Given the description of an element on the screen output the (x, y) to click on. 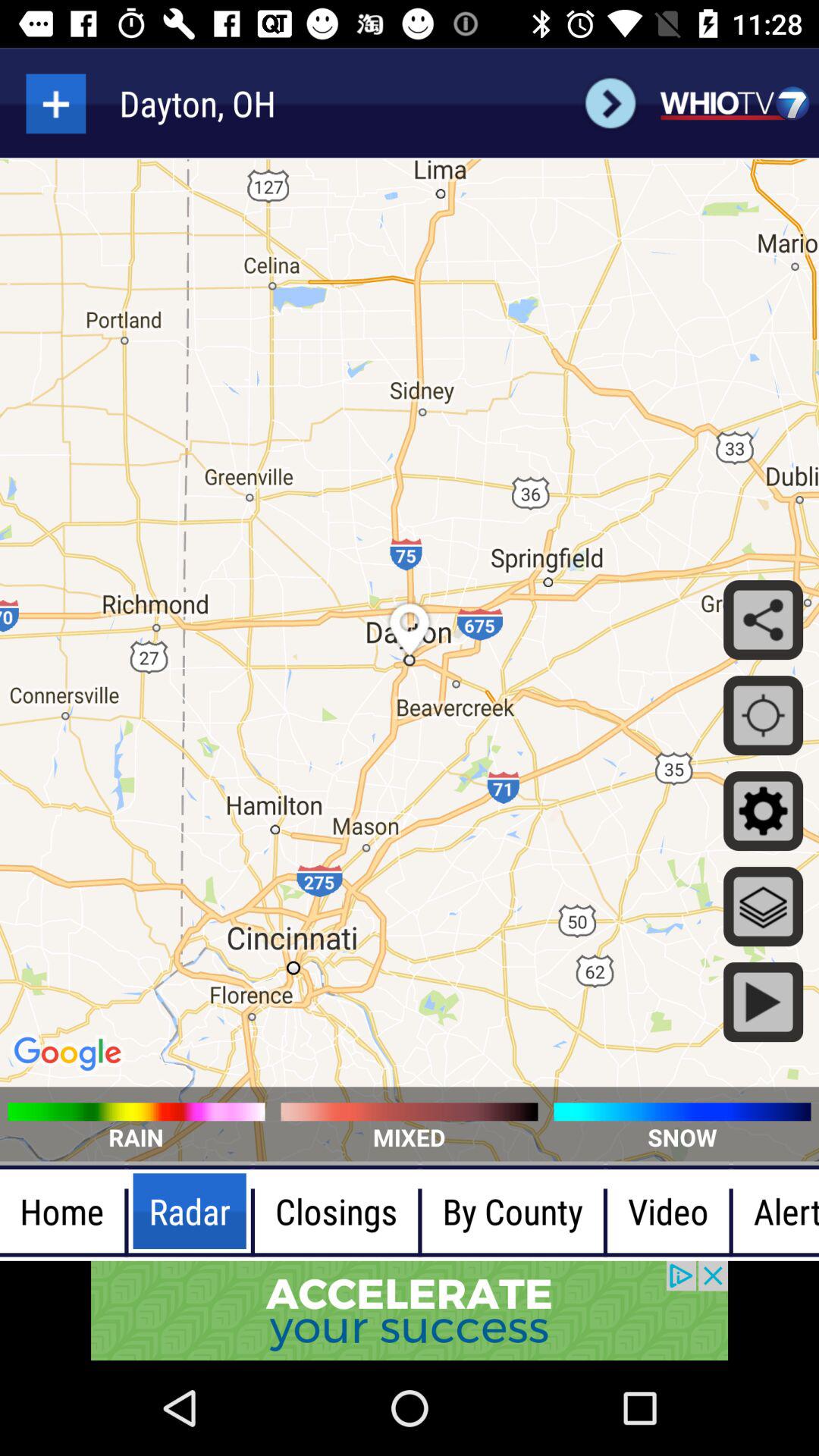
click to view advertisements options (409, 1310)
